Given the description of an element on the screen output the (x, y) to click on. 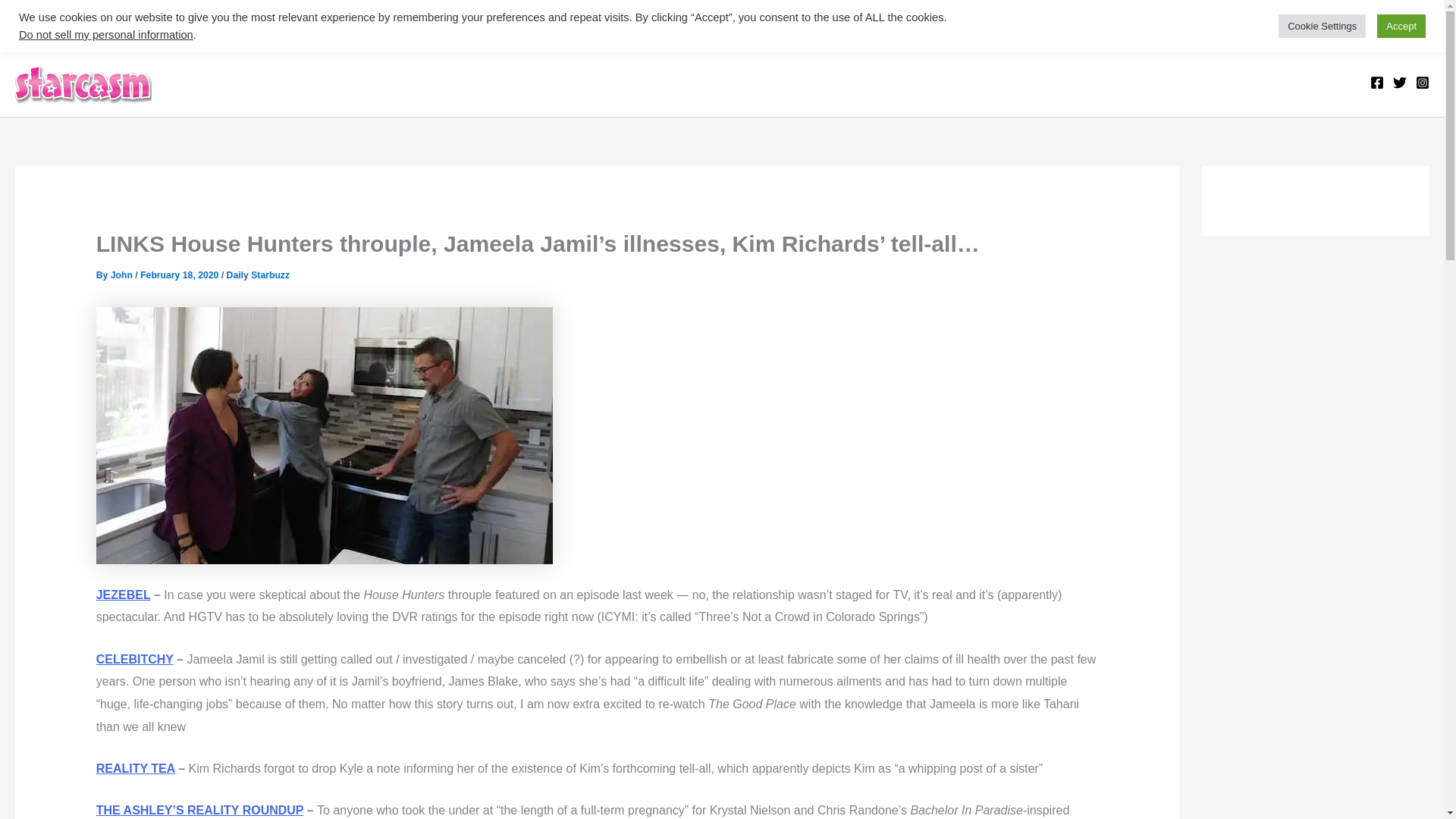
TOP CATEGORIES (87, 22)
John (122, 275)
Home (188, 22)
House Hunters throuple (324, 435)
View all posts by John (122, 275)
Search Button (1415, 31)
Daily Starbuzz (258, 275)
